Given the description of an element on the screen output the (x, y) to click on. 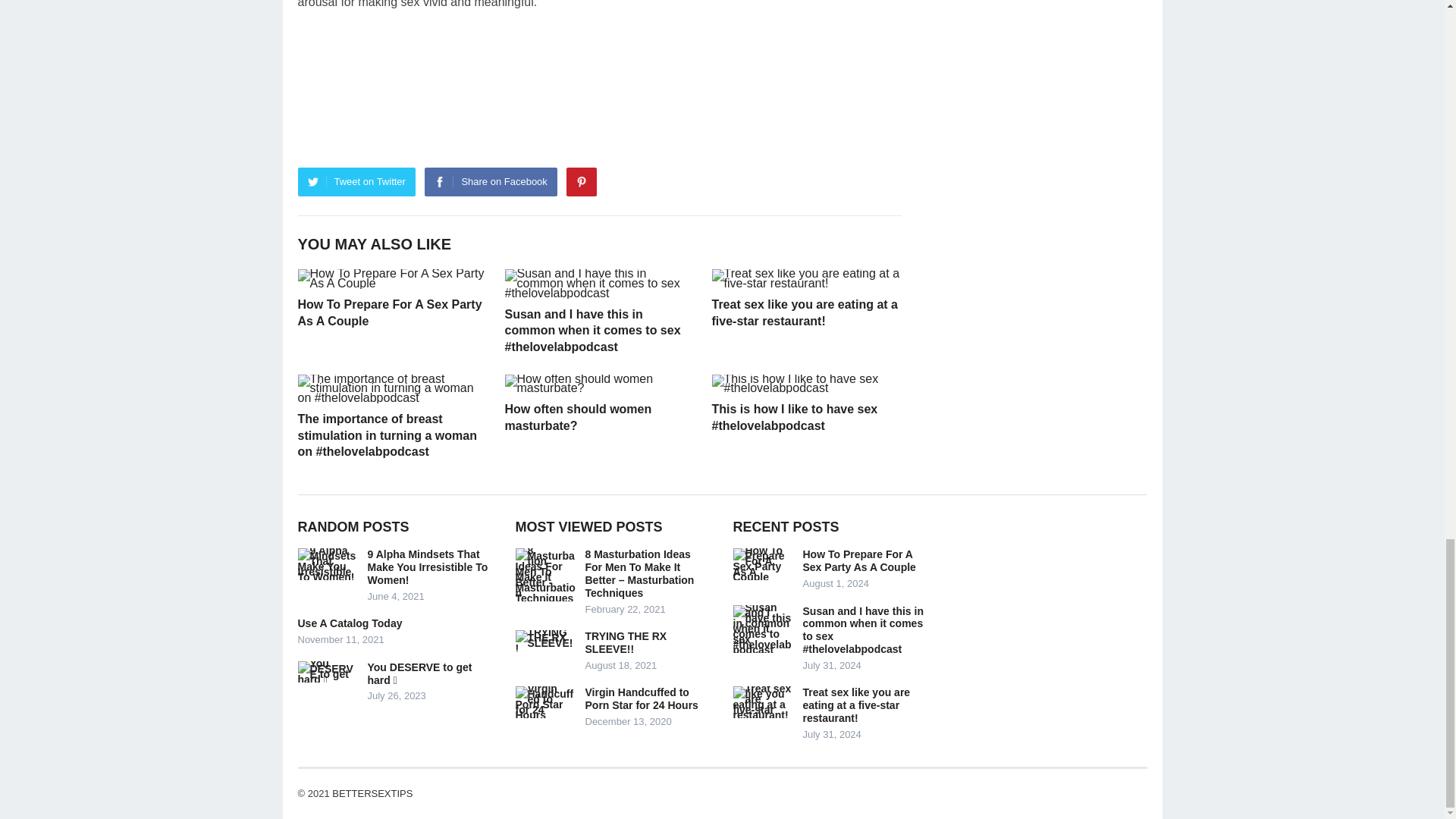
How often should women masturbate? 10 (599, 383)
Treat sex like you are eating at a five-star restaurant! 6 (805, 279)
Share on Facebook (490, 181)
How To Prepare For A Sex Party As A Couple (389, 312)
How often should women masturbate? (578, 417)
Pinterest (581, 181)
Treat sex like you are eating at a five-star restaurant! (803, 312)
9 Alpha Mindsets That Make You Irresistible To Women! 17 (327, 563)
Tweet on Twitter (355, 181)
How To Prepare For A Sex Party As A Couple 2 (391, 279)
